Given the description of an element on the screen output the (x, y) to click on. 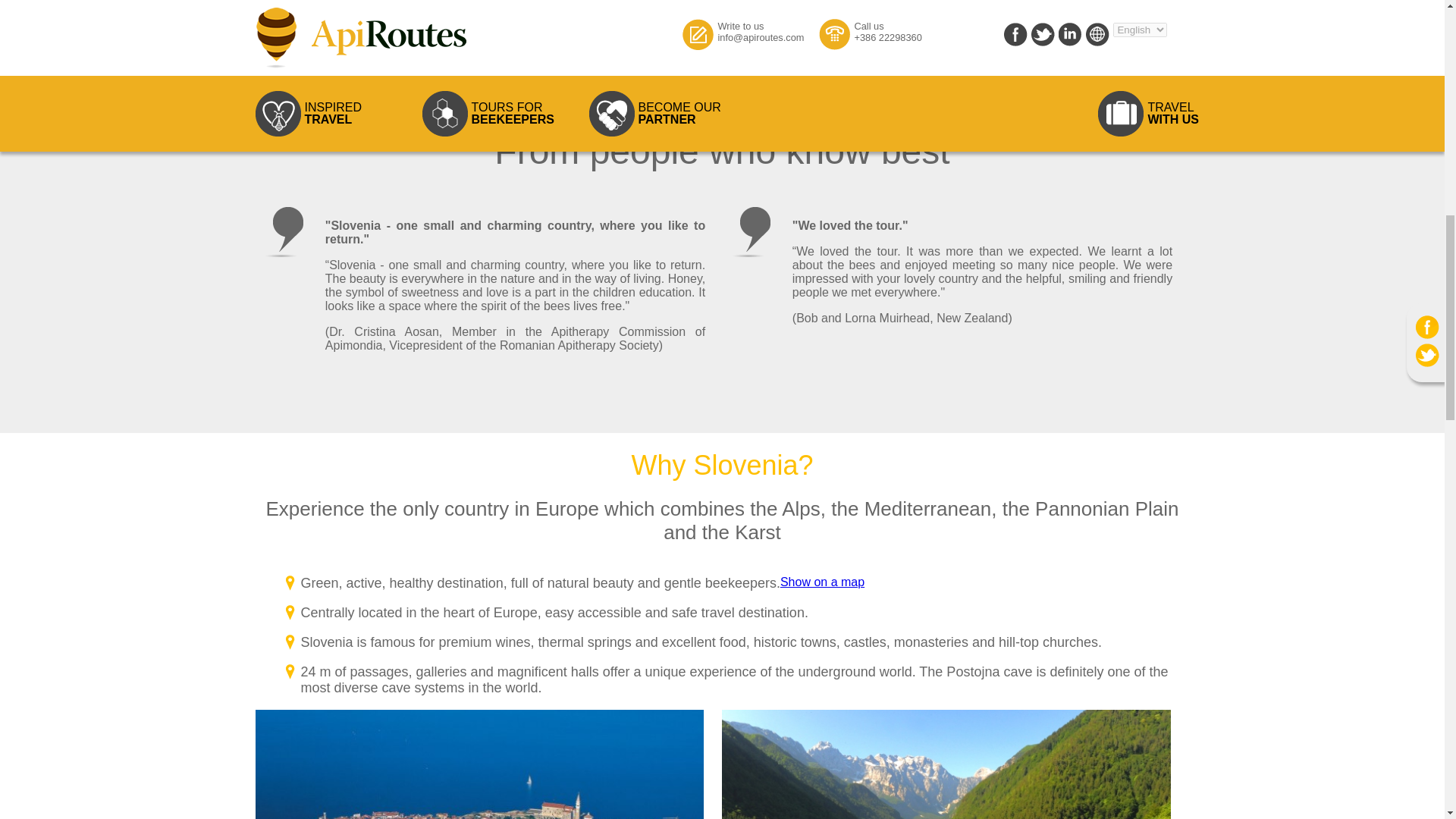
Book NOW (666, 48)
Show on a map (822, 581)
Ljubljana - European Green Capital (388, 47)
